Given the description of an element on the screen output the (x, y) to click on. 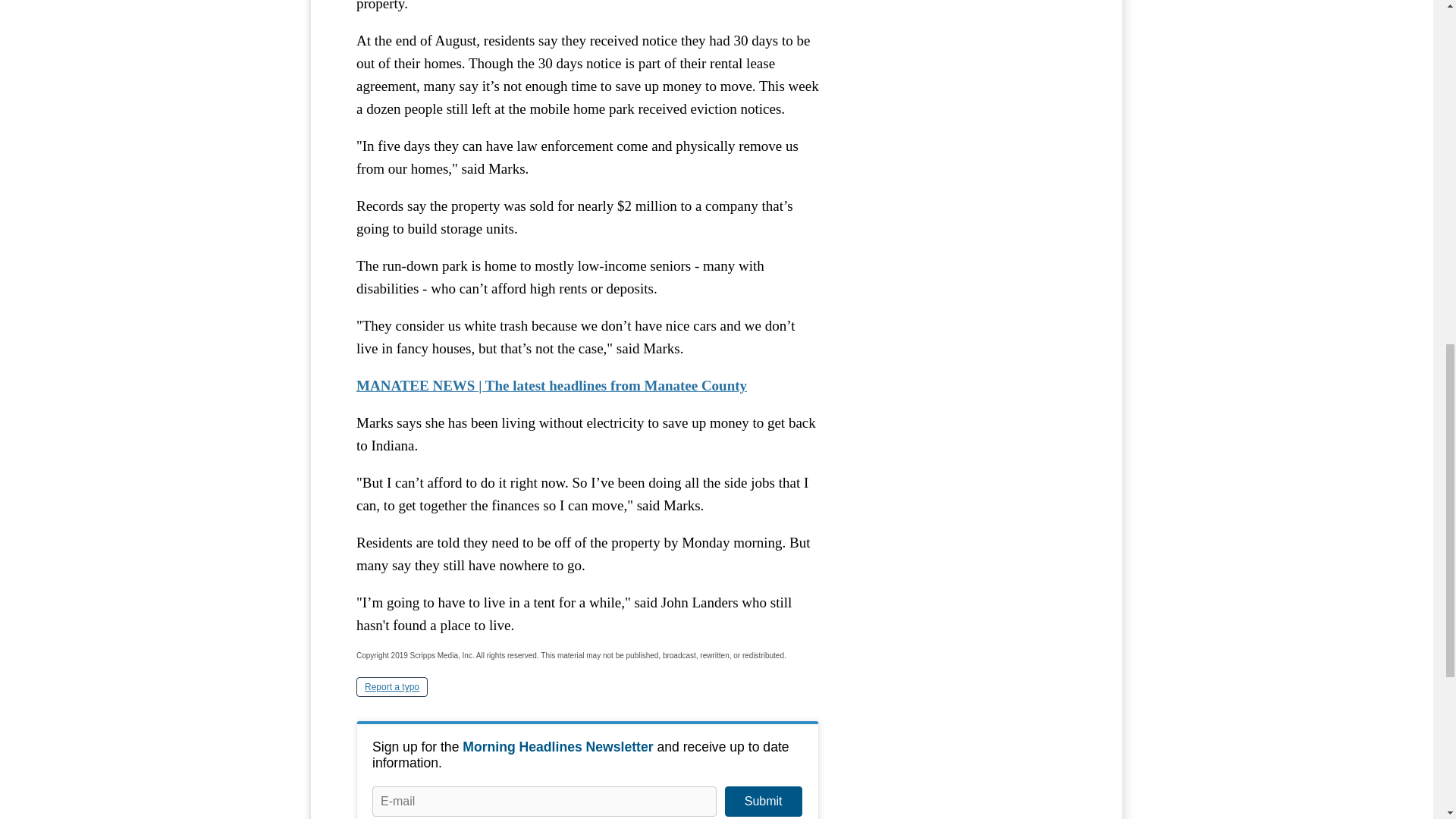
Submit (763, 801)
